Given the description of an element on the screen output the (x, y) to click on. 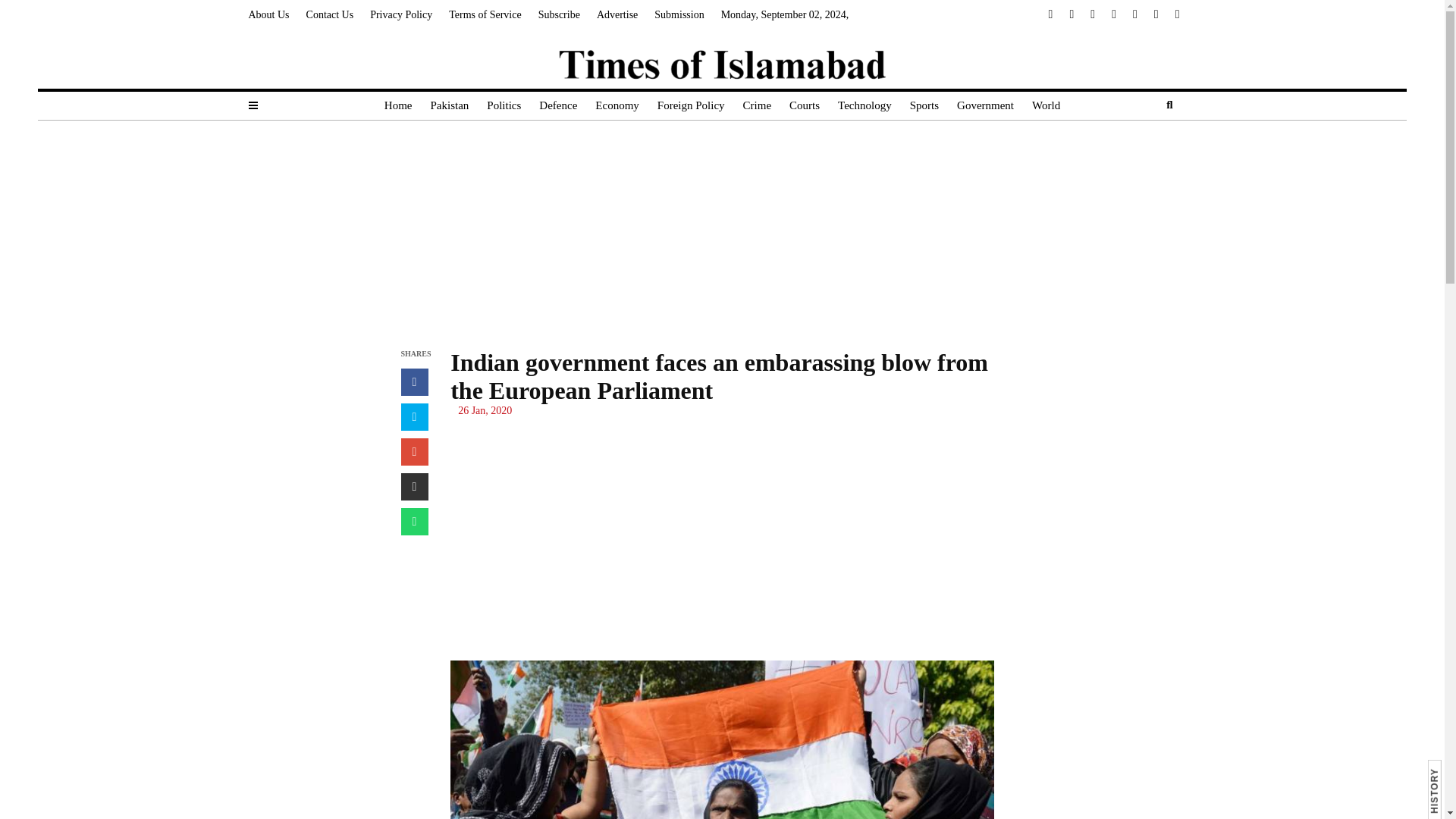
Technology (864, 105)
Foreign Policy (690, 105)
Advertisement (722, 539)
Home (398, 105)
About Us (268, 15)
Defence (557, 105)
Government (985, 105)
Courts (804, 105)
Crime (756, 105)
